Given the description of an element on the screen output the (x, y) to click on. 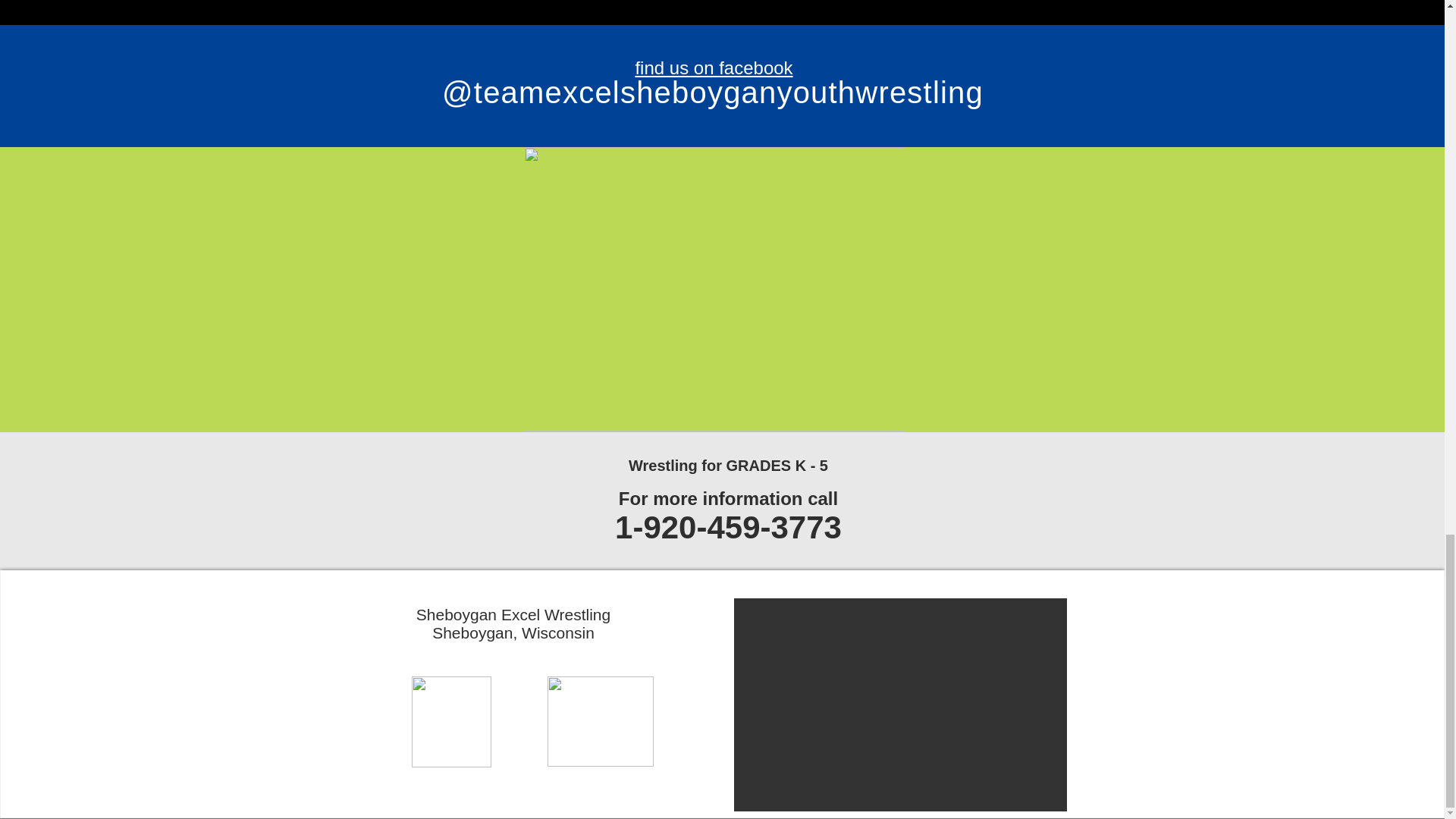
find us on facebook (713, 67)
